Given the description of an element on the screen output the (x, y) to click on. 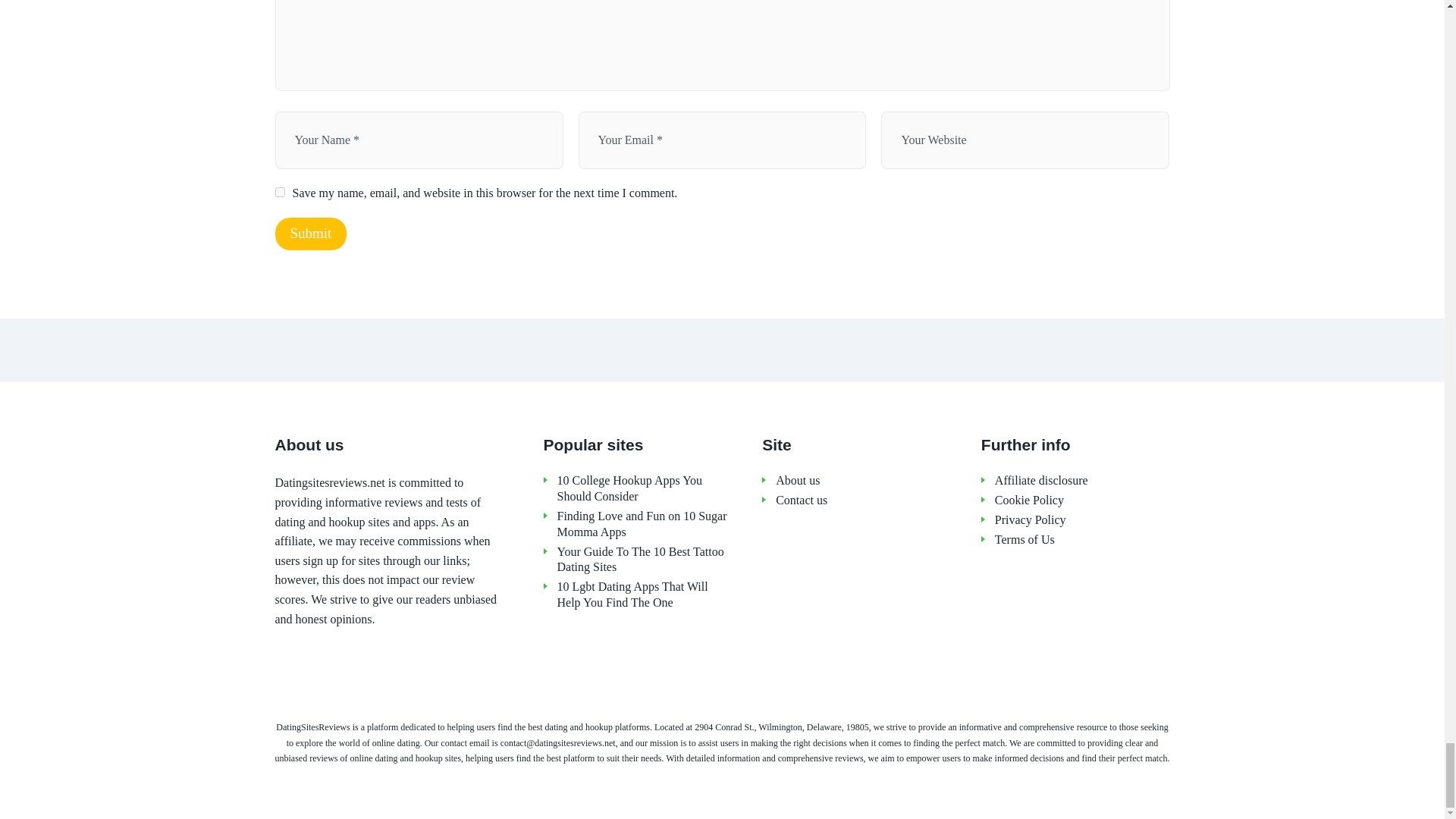
Submit (310, 233)
yes (279, 192)
